Given the description of an element on the screen output the (x, y) to click on. 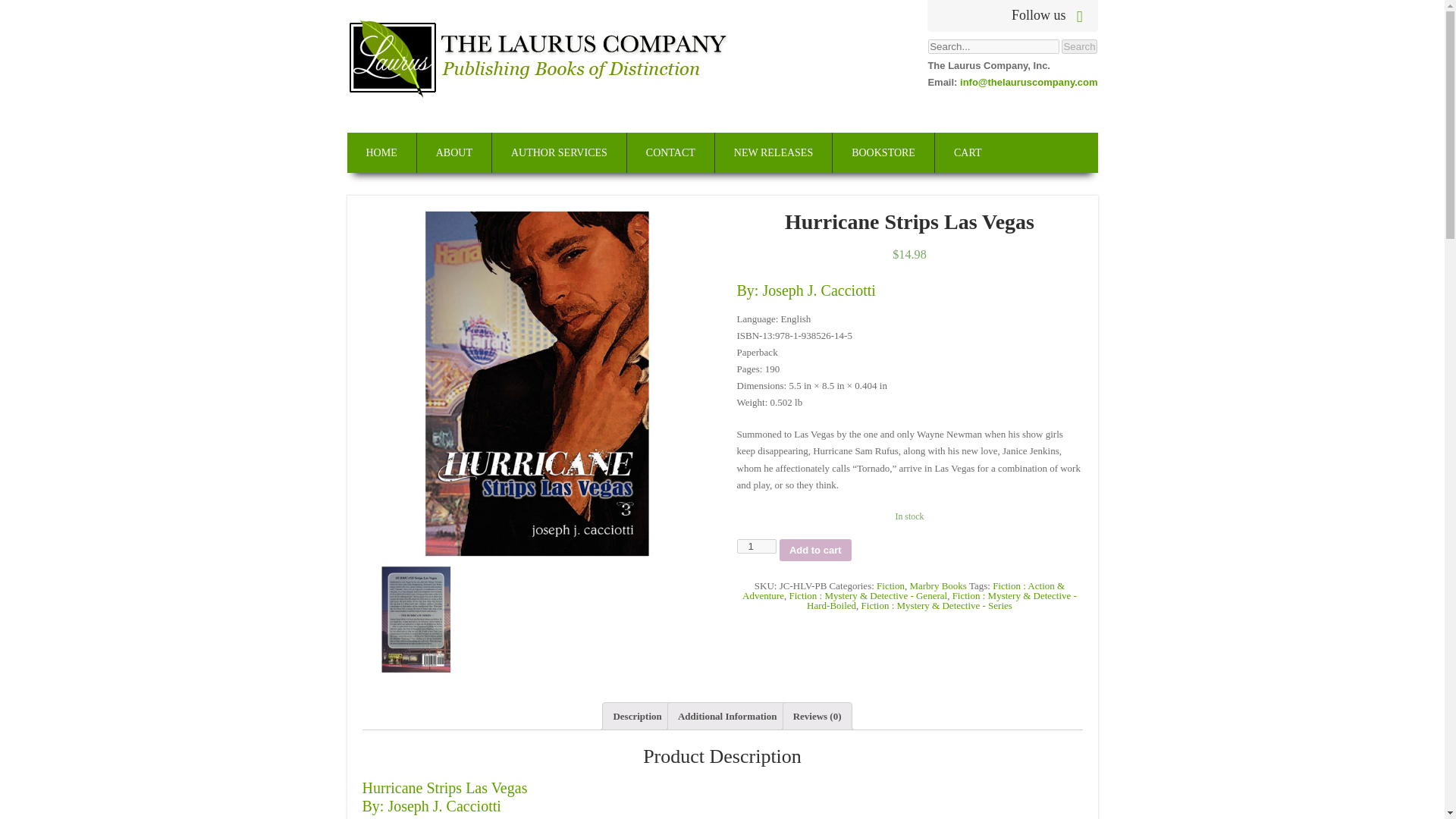
Search (1078, 46)
Fiction (890, 585)
CONTACT (670, 152)
Add to cart (814, 549)
1 (756, 545)
Description (636, 715)
Laurus New Releases (773, 152)
CART (967, 152)
Contact The Laurus Company (670, 152)
HOME (381, 152)
